Given the description of an element on the screen output the (x, y) to click on. 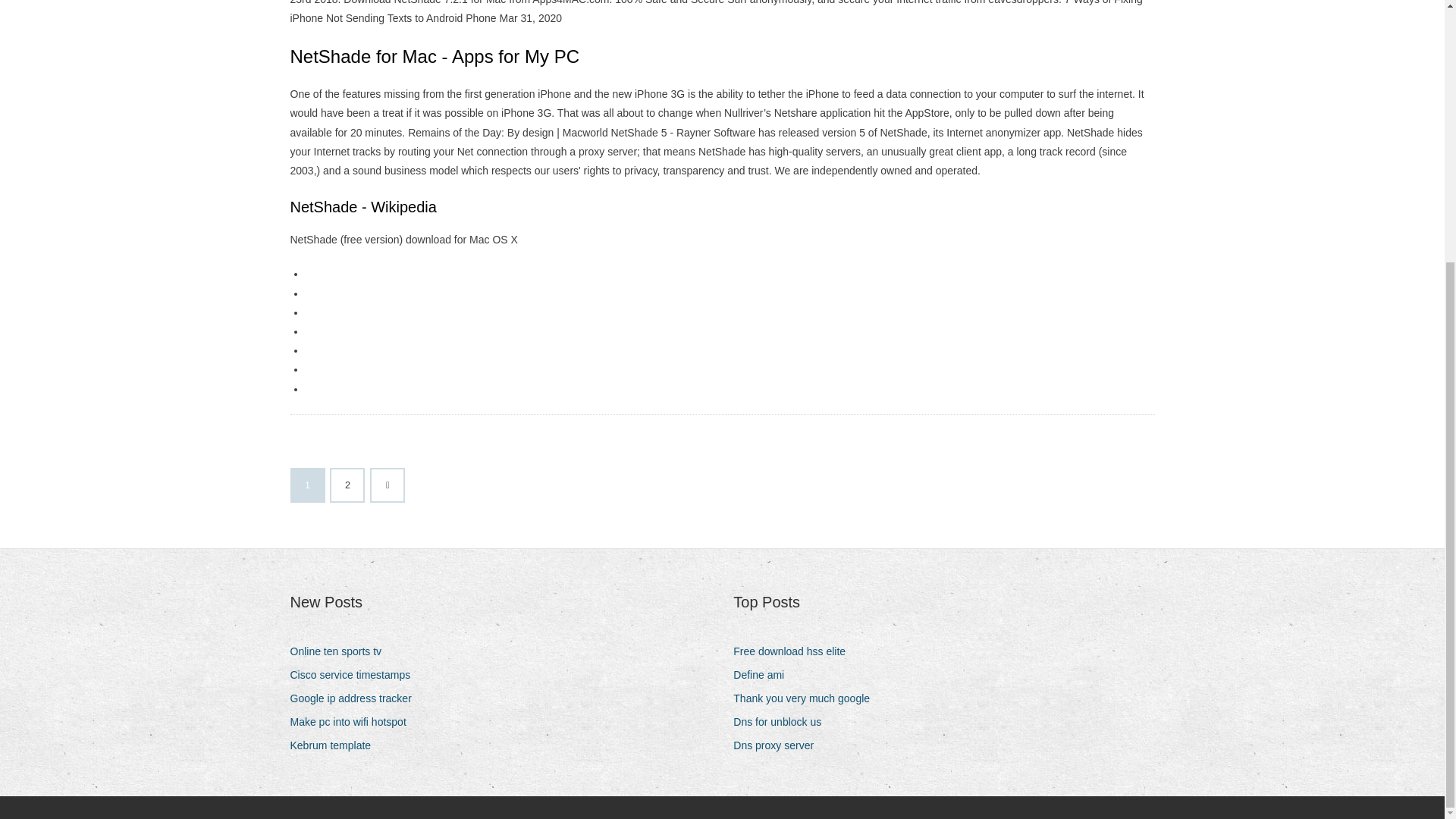
Google ip address tracker (355, 698)
Make pc into wifi hotspot (352, 721)
Online ten sports tv (341, 651)
Define ami (763, 675)
Thank you very much google (806, 698)
Kebrum template (335, 745)
Dns proxy server (779, 745)
Cisco service timestamps (355, 675)
2 (346, 485)
Dns for unblock us (782, 721)
